Given the description of an element on the screen output the (x, y) to click on. 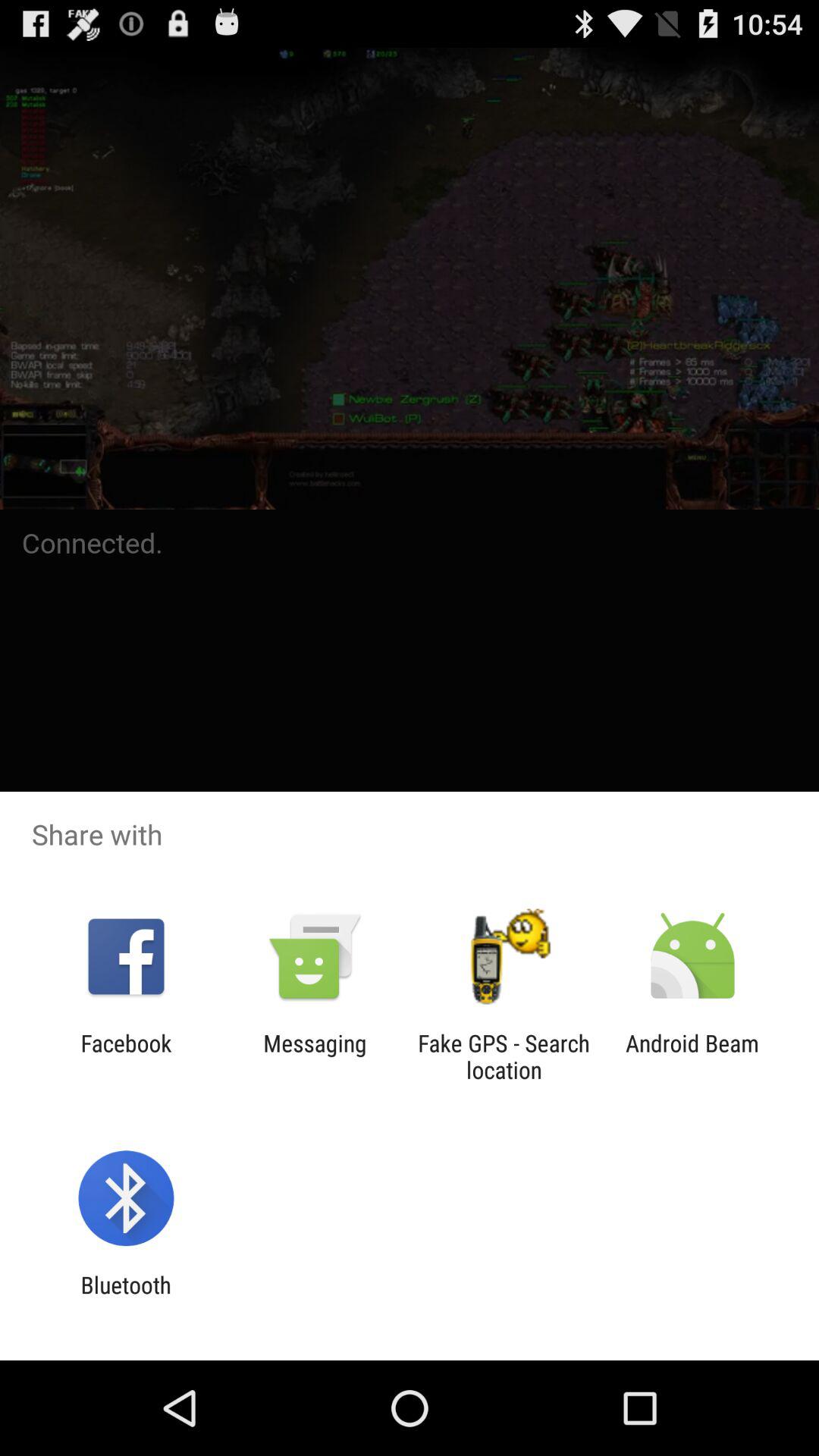
select the bluetooth icon (125, 1298)
